Given the description of an element on the screen output the (x, y) to click on. 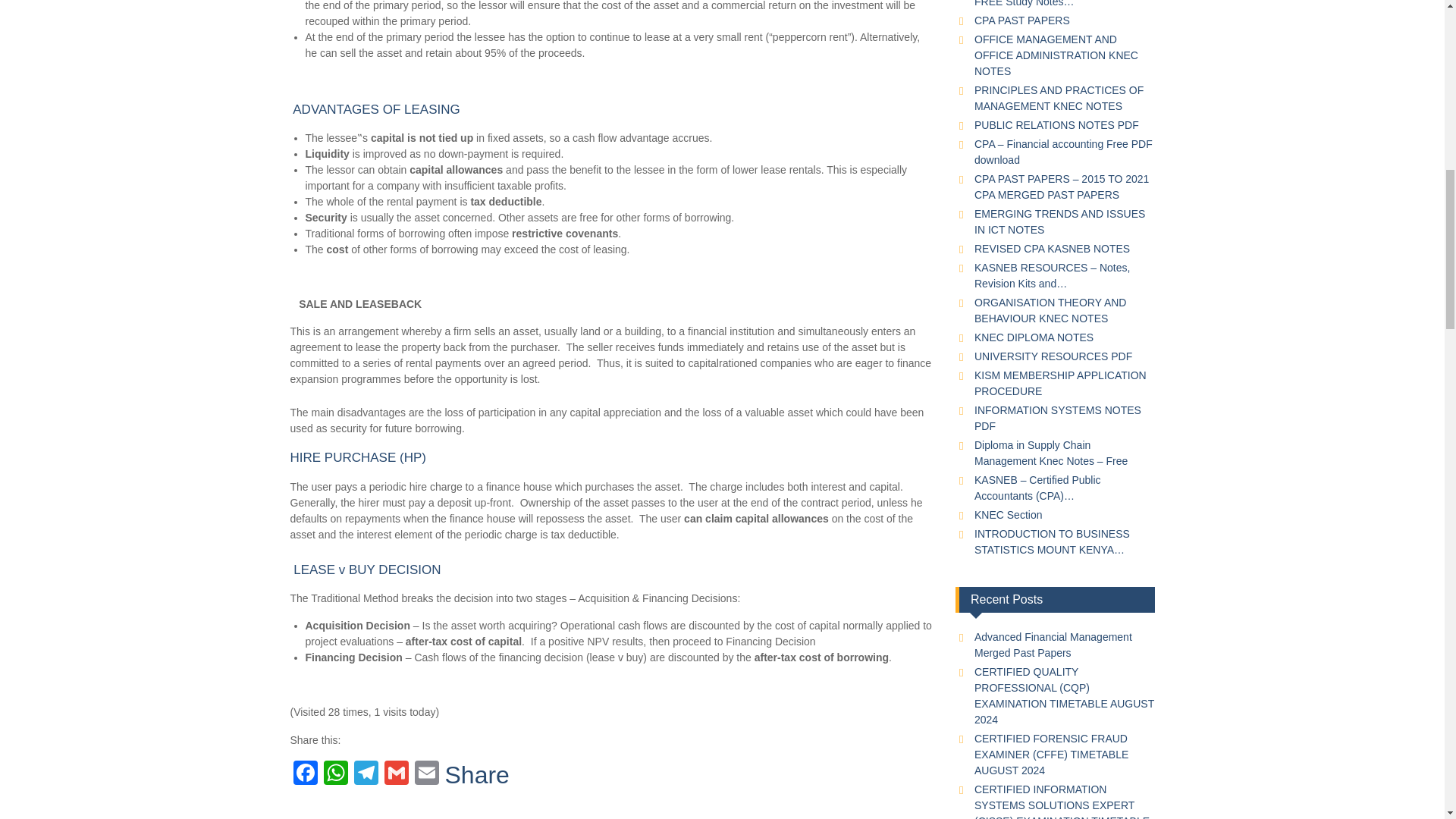
PRINCIPLES AND PRACTICES OF MANAGEMENT KNEC NOTES (1058, 98)
Email (425, 774)
Telegram (365, 774)
Gmail (395, 774)
Gmail (395, 774)
OFFICE MANAGEMENT AND OFFICE ADMINISTRATION KNEC NOTES (1056, 54)
Email (425, 774)
CPA PAST PAPERS (1022, 20)
Share (476, 774)
WhatsApp (335, 774)
